Given the description of an element on the screen output the (x, y) to click on. 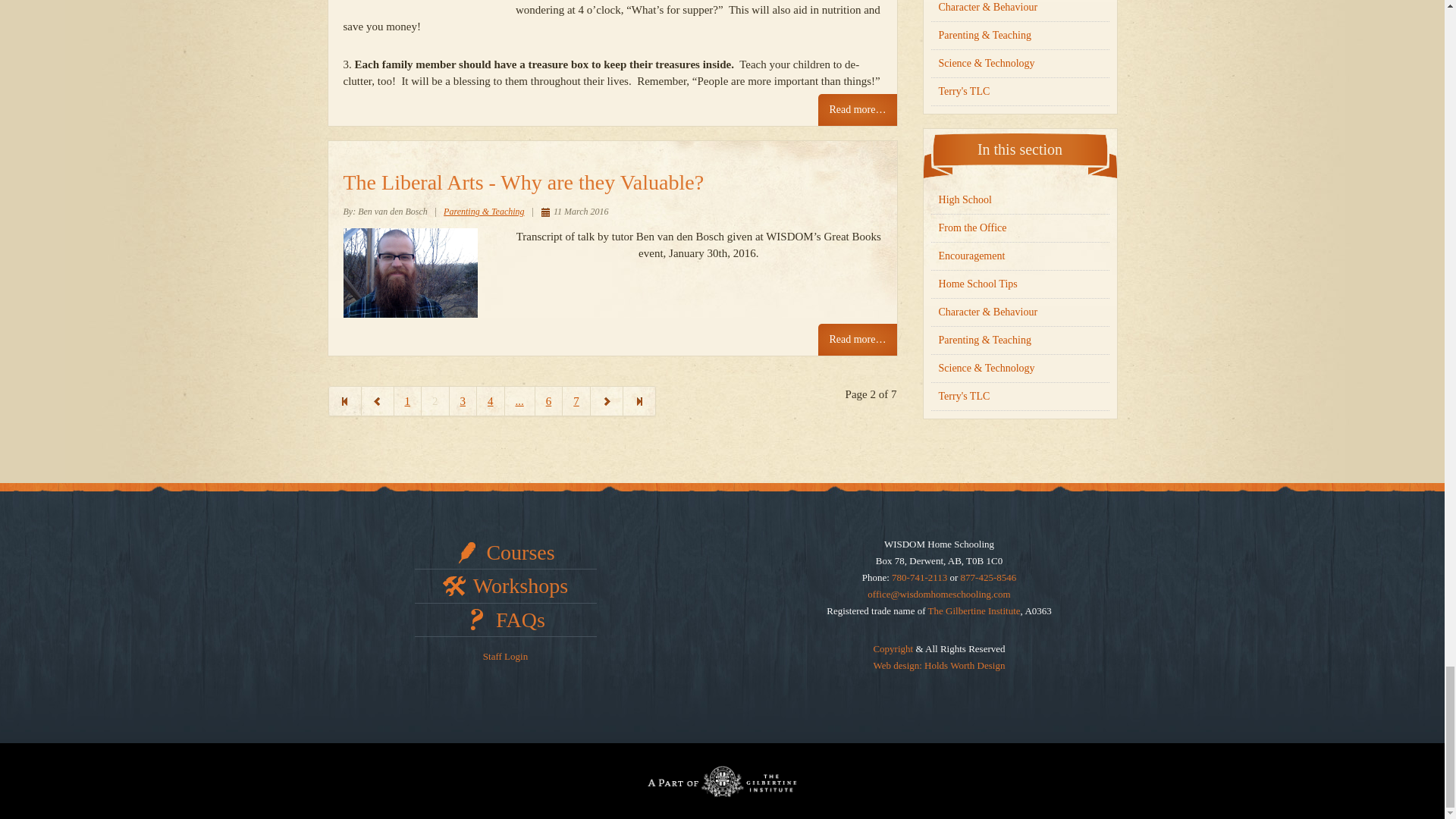
1 (408, 400)
Next (607, 400)
3 (462, 400)
6 (549, 400)
Start (344, 400)
End (639, 400)
4 (491, 400)
Prev (377, 400)
5 (520, 400)
7 (576, 400)
